Given the description of an element on the screen output the (x, y) to click on. 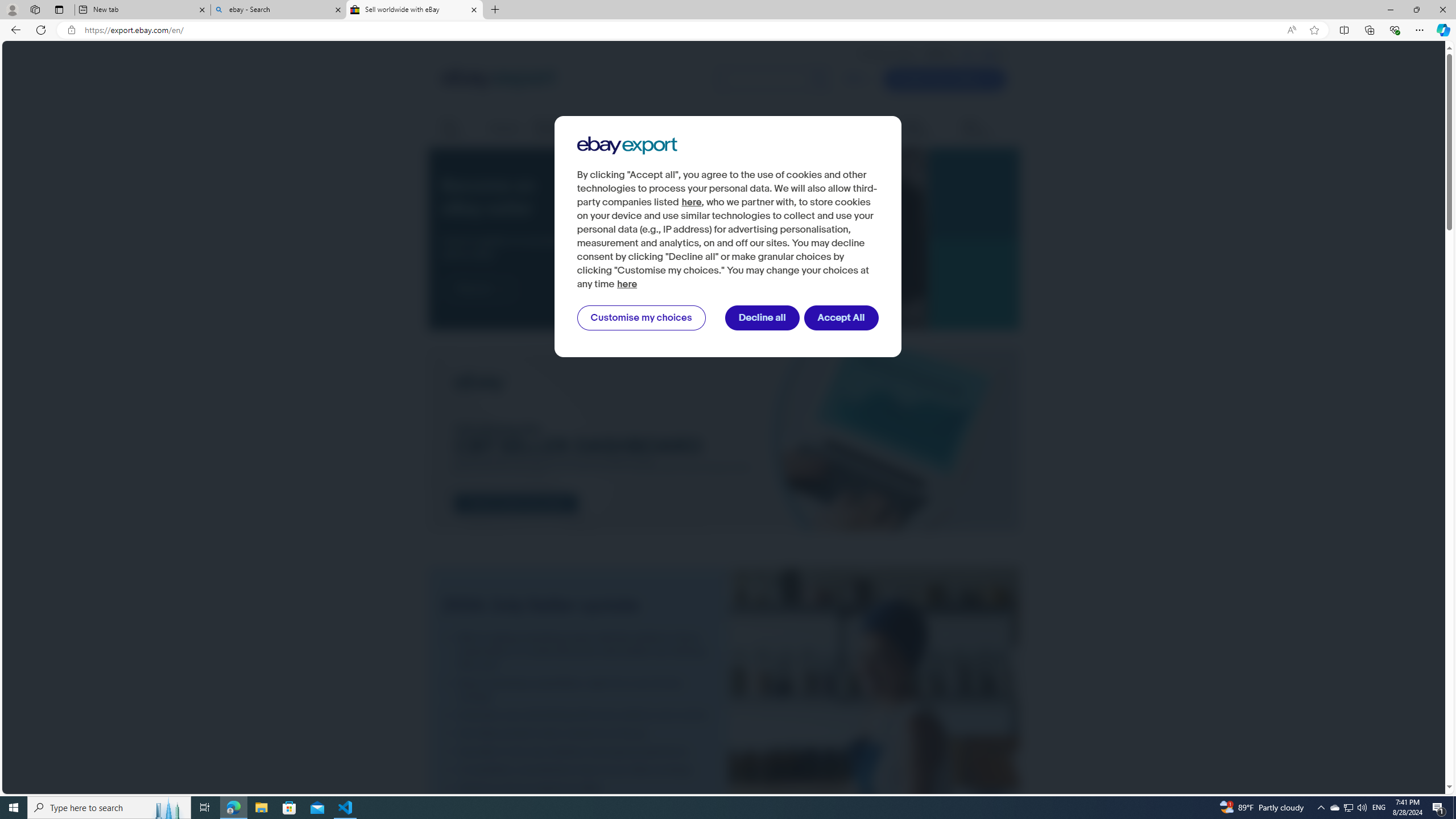
Seller updates (924, 128)
Create Your Listing (944, 78)
Class: header__toplink-icon (1001, 54)
First steps (457, 128)
Customise my choices (641, 317)
Accept All (841, 317)
